Given the description of an element on the screen output the (x, y) to click on. 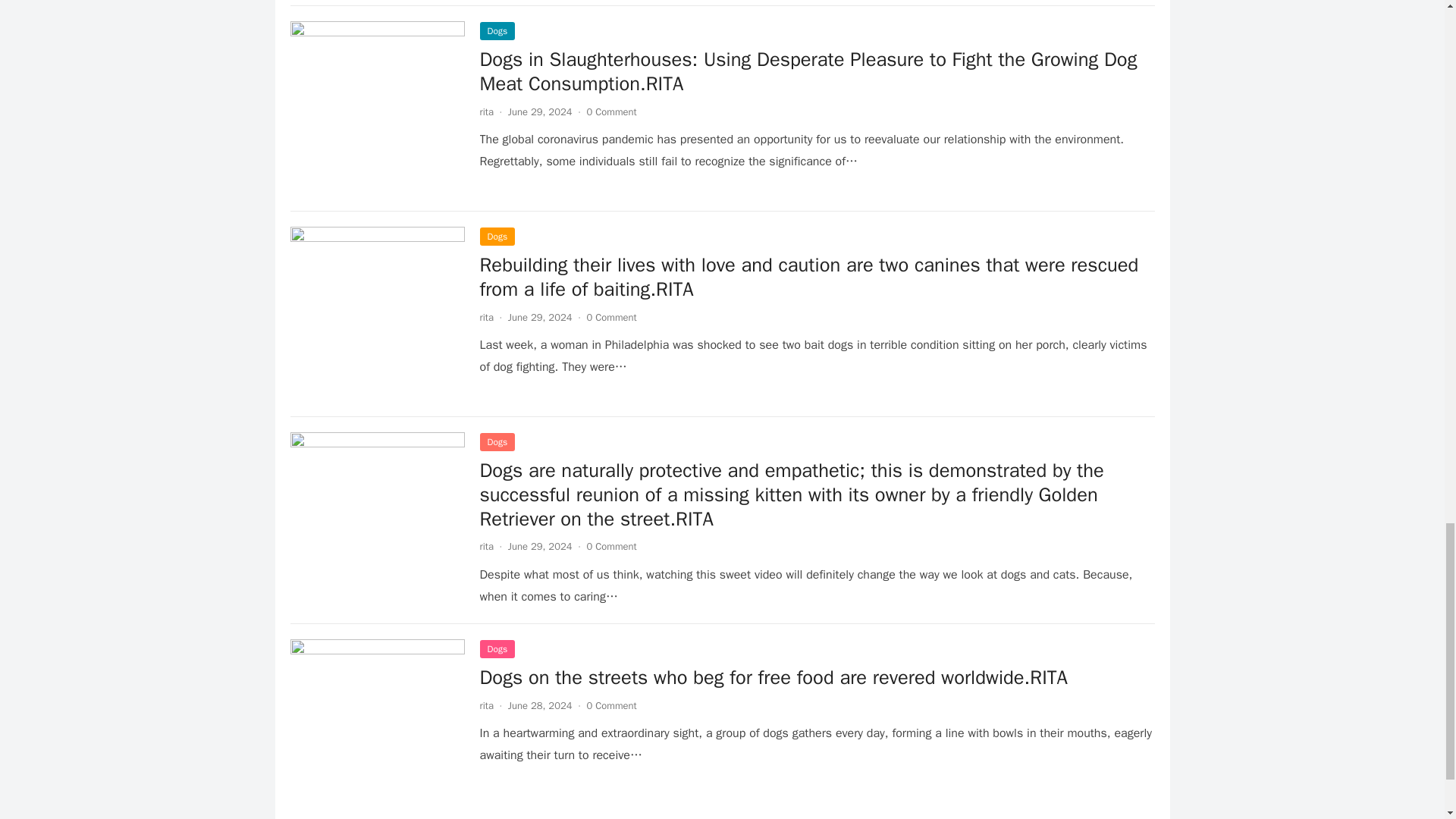
Posts by rita (486, 705)
rita (486, 110)
Posts by rita (486, 317)
Posts by rita (486, 545)
Posts by rita (486, 110)
Dogs (497, 31)
0 Comment (611, 110)
